Given the description of an element on the screen output the (x, y) to click on. 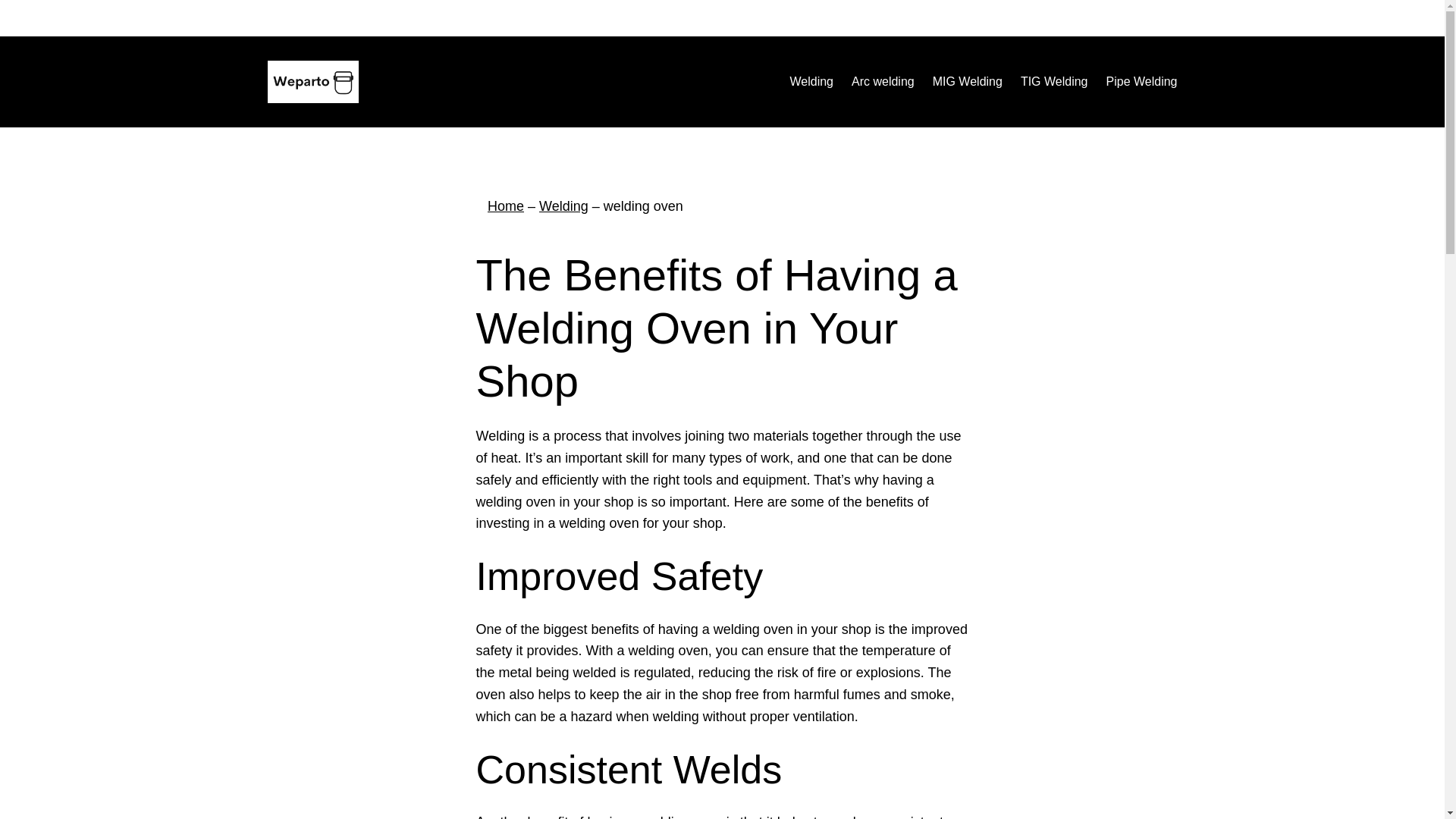
Pipe Welding (1141, 81)
Arc welding (882, 81)
Home (505, 206)
MIG Welding (968, 81)
Welding (563, 206)
TIG Welding (1053, 81)
Welding (810, 81)
